Given the description of an element on the screen output the (x, y) to click on. 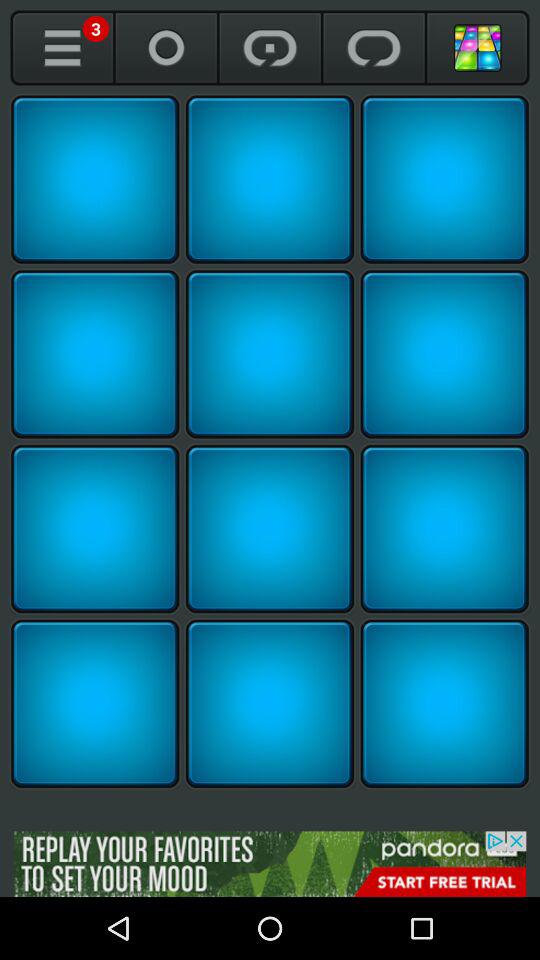
find more about the advertisement (270, 864)
